Given the description of an element on the screen output the (x, y) to click on. 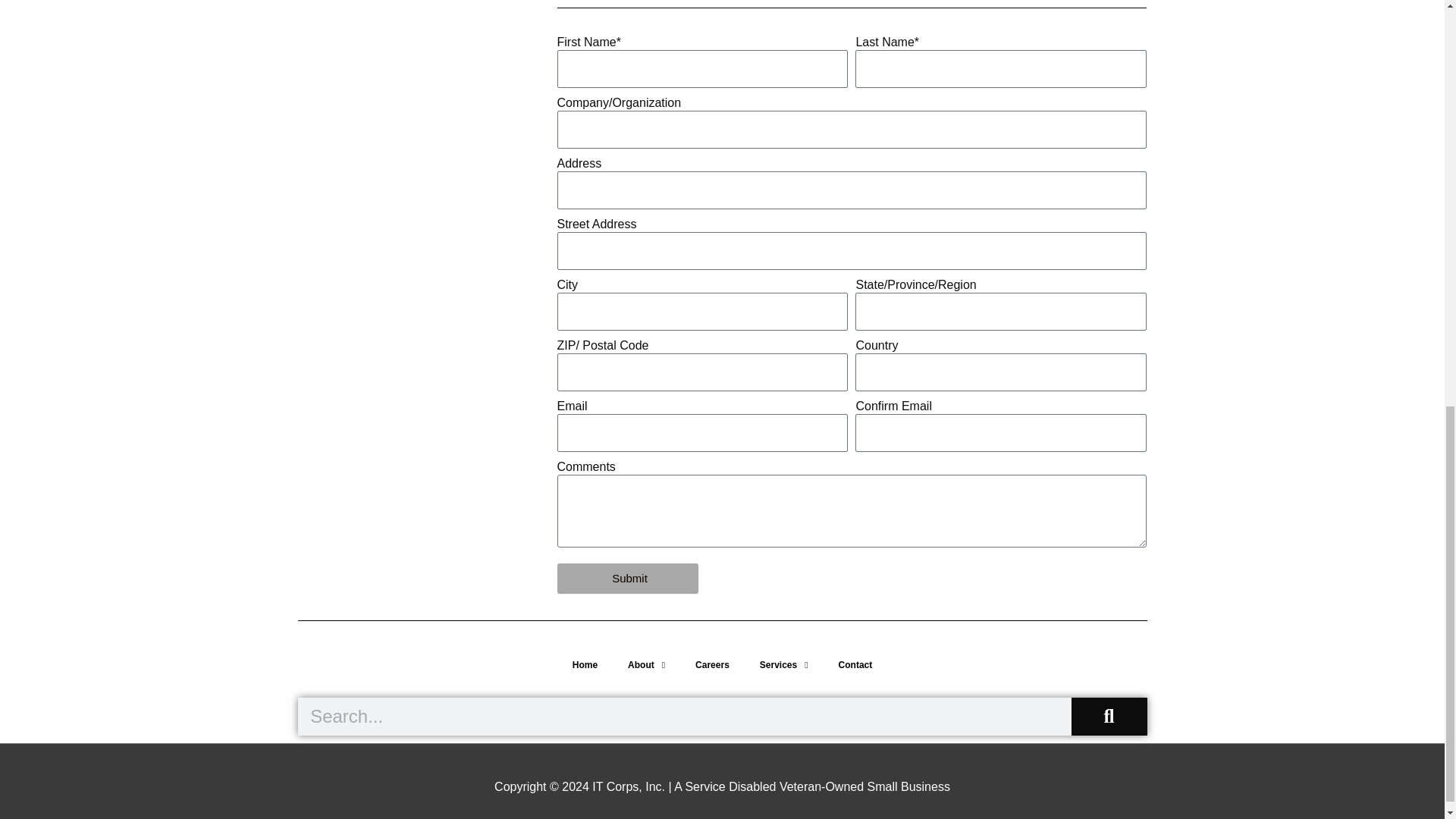
Search (1108, 716)
About (645, 664)
Submit (627, 578)
Search (683, 716)
Home (584, 664)
